Given the description of an element on the screen output the (x, y) to click on. 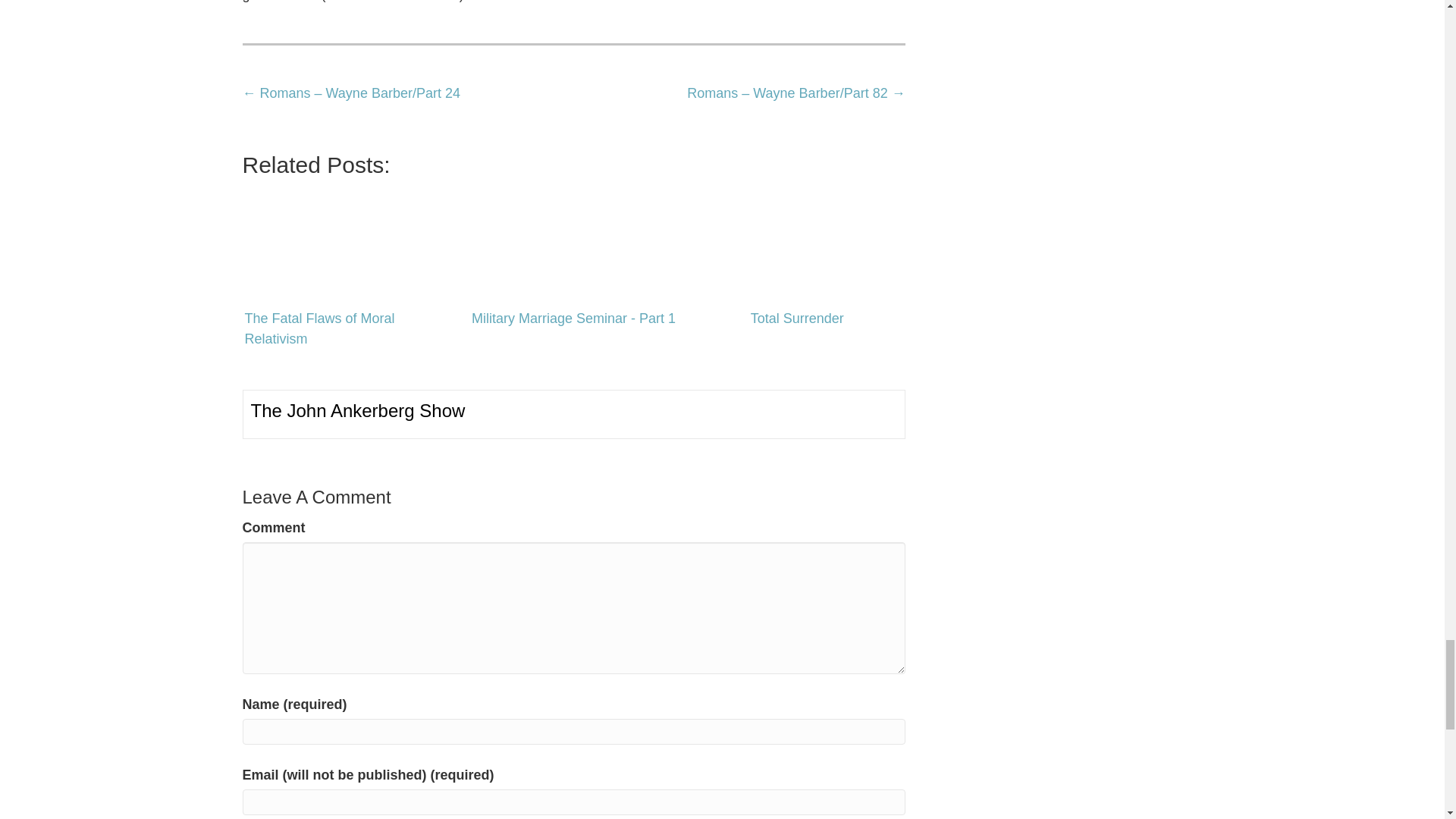
The Fatal Flaws of Moral Relativism (349, 241)
Military Marriage Seminar - Part 1 (574, 241)
Total Surrender (796, 241)
